Given the description of an element on the screen output the (x, y) to click on. 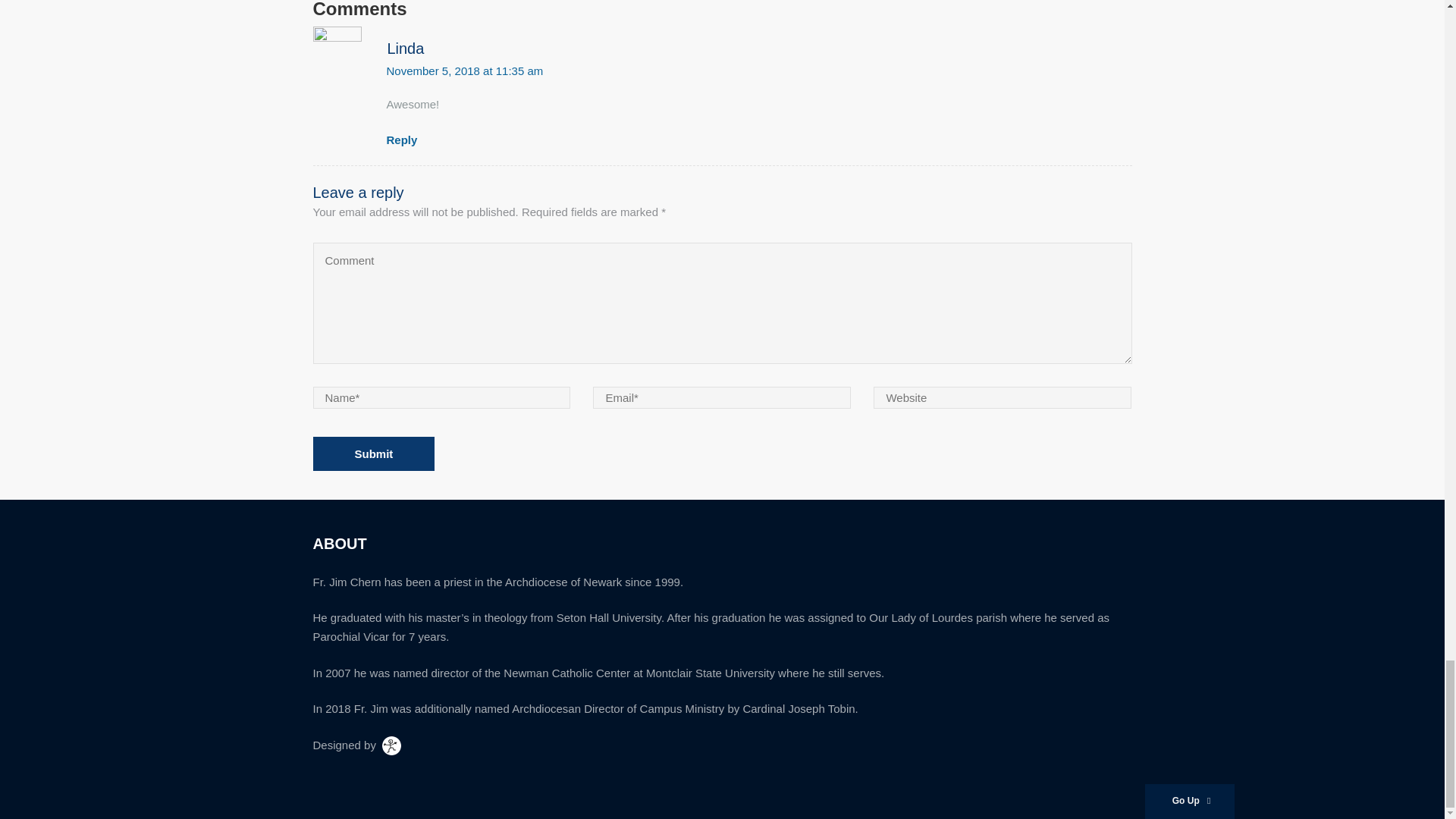
Submit (373, 453)
